Given the description of an element on the screen output the (x, y) to click on. 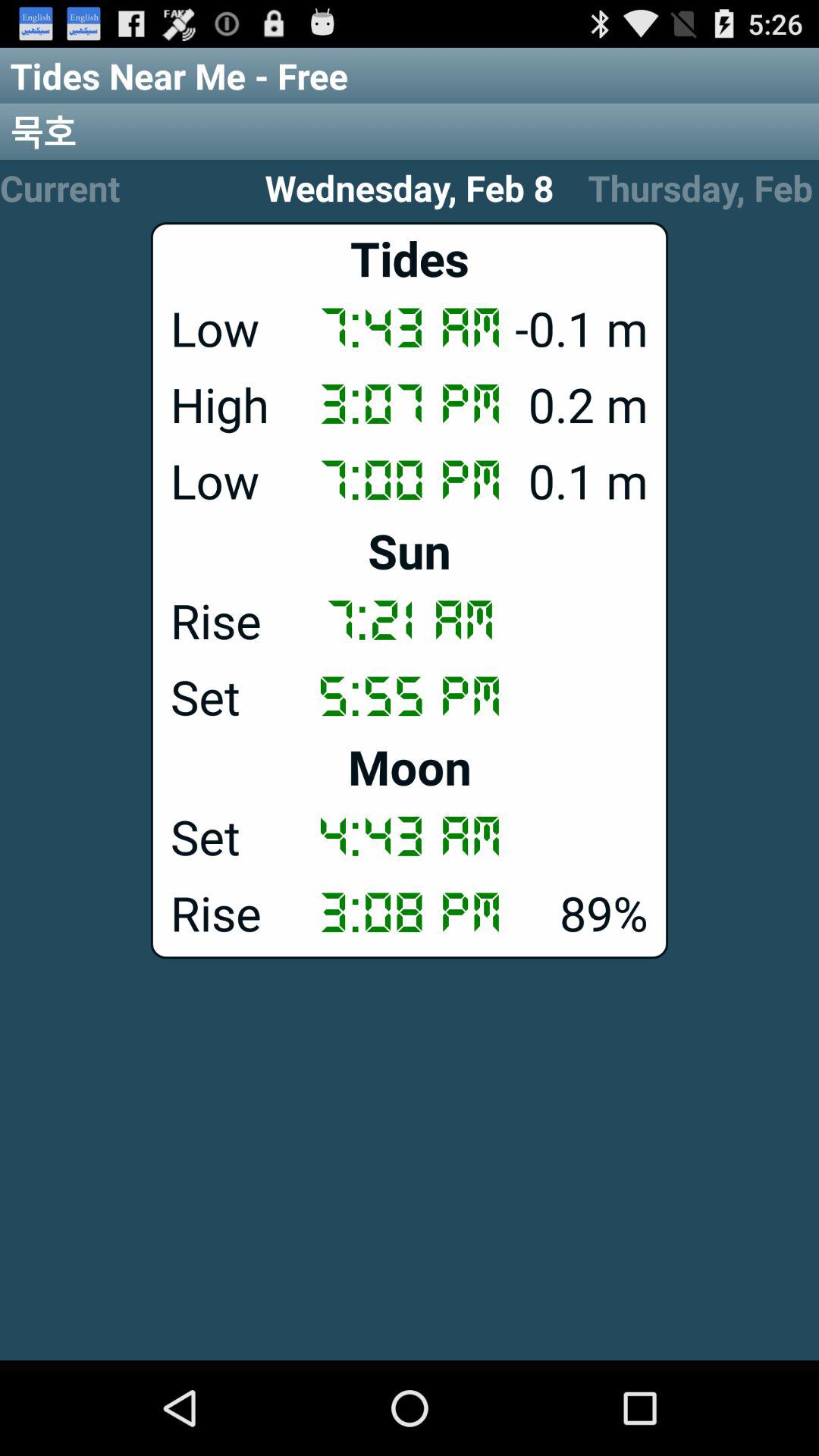
launch item below set app (409, 912)
